Given the description of an element on the screen output the (x, y) to click on. 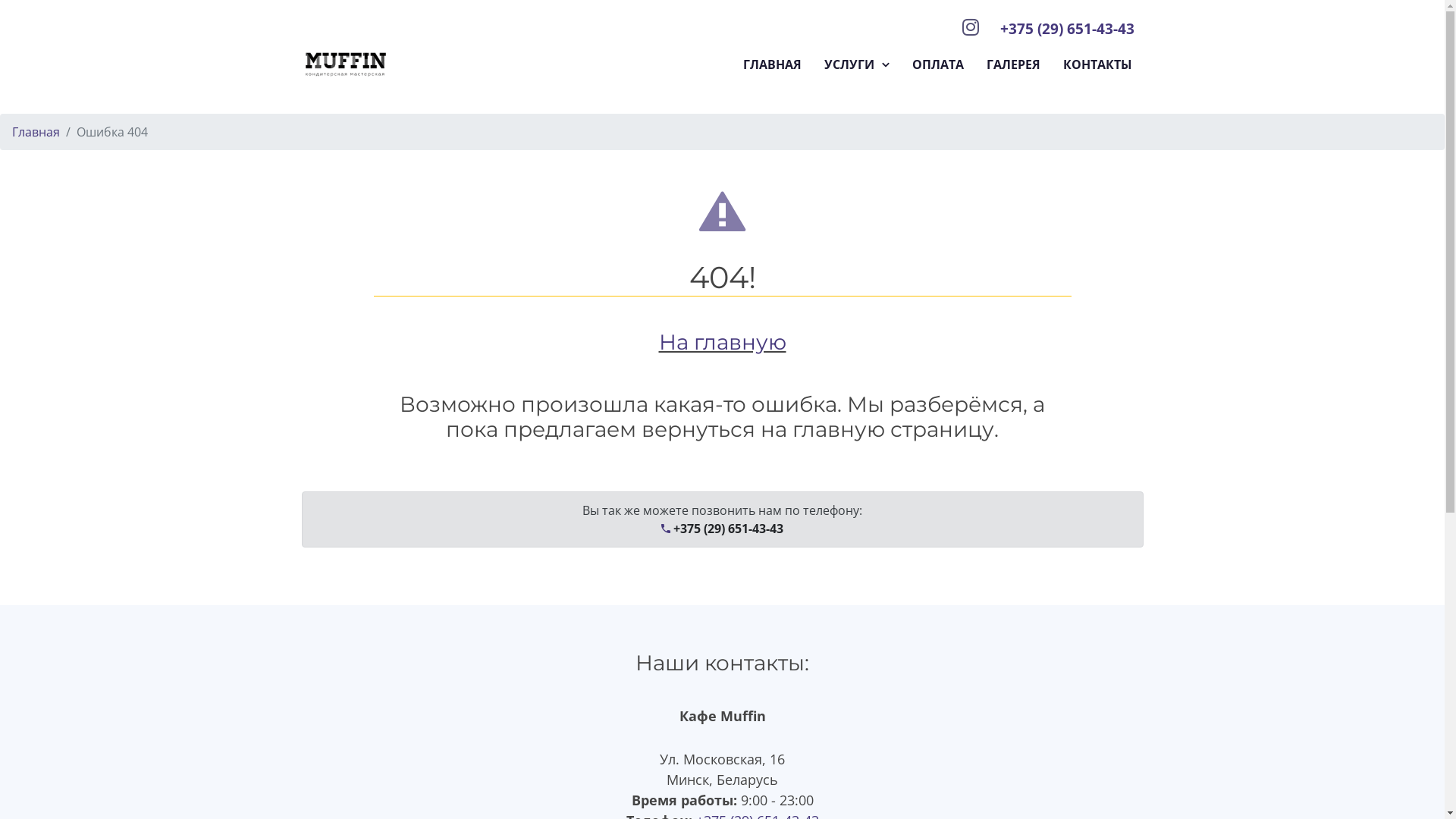
+375 (29) 651-43-43 Element type: text (1066, 28)
+375 (29) 651-43-43 Element type: text (722, 528)
